Given the description of an element on the screen output the (x, y) to click on. 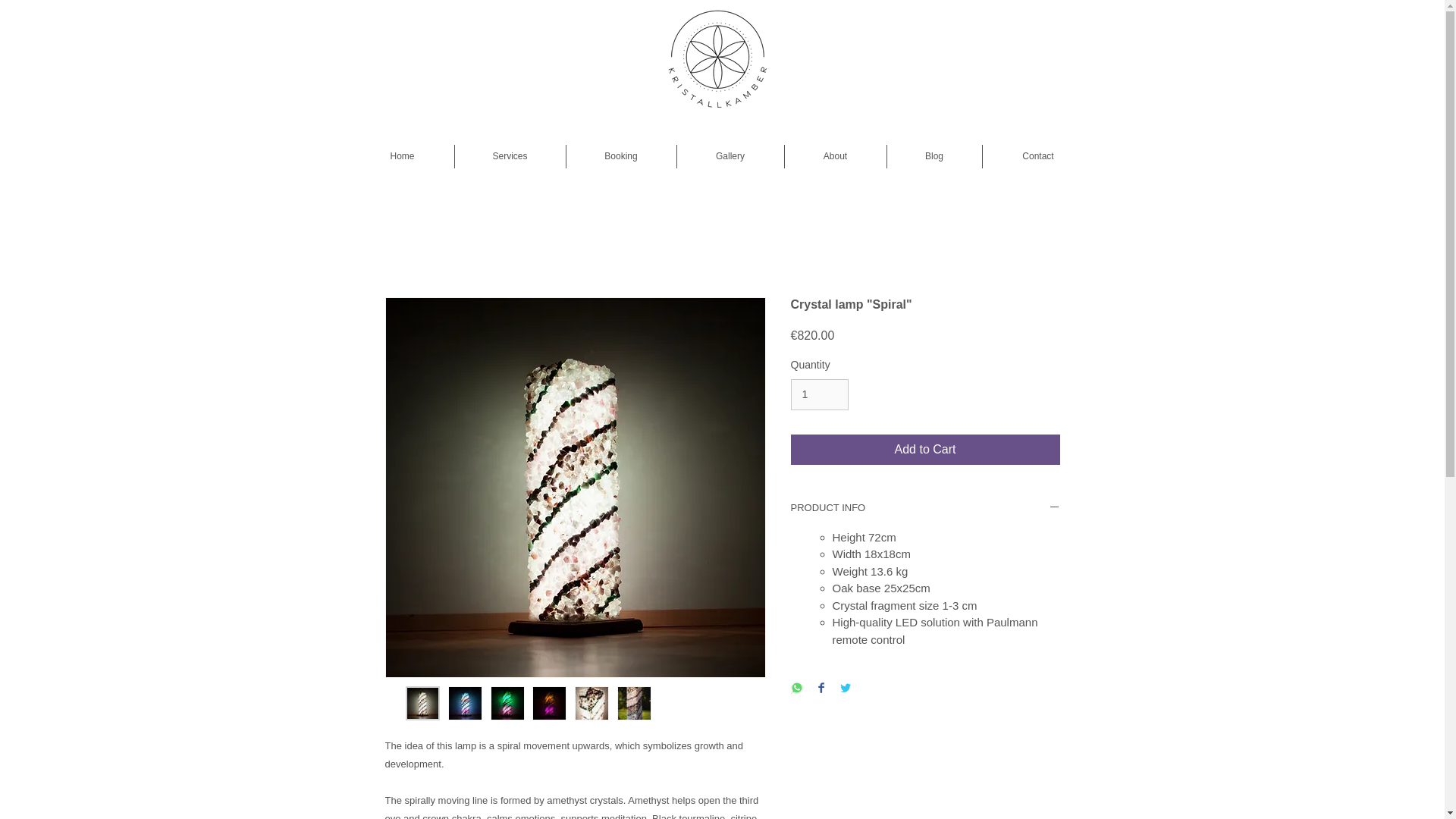
Contact (1038, 156)
Gallery (730, 156)
Booking (620, 156)
1 (818, 394)
Add to Cart (924, 449)
Home (401, 156)
PRODUCT INFO (924, 508)
About (834, 156)
Services (510, 156)
Blog (933, 156)
